Given the description of an element on the screen output the (x, y) to click on. 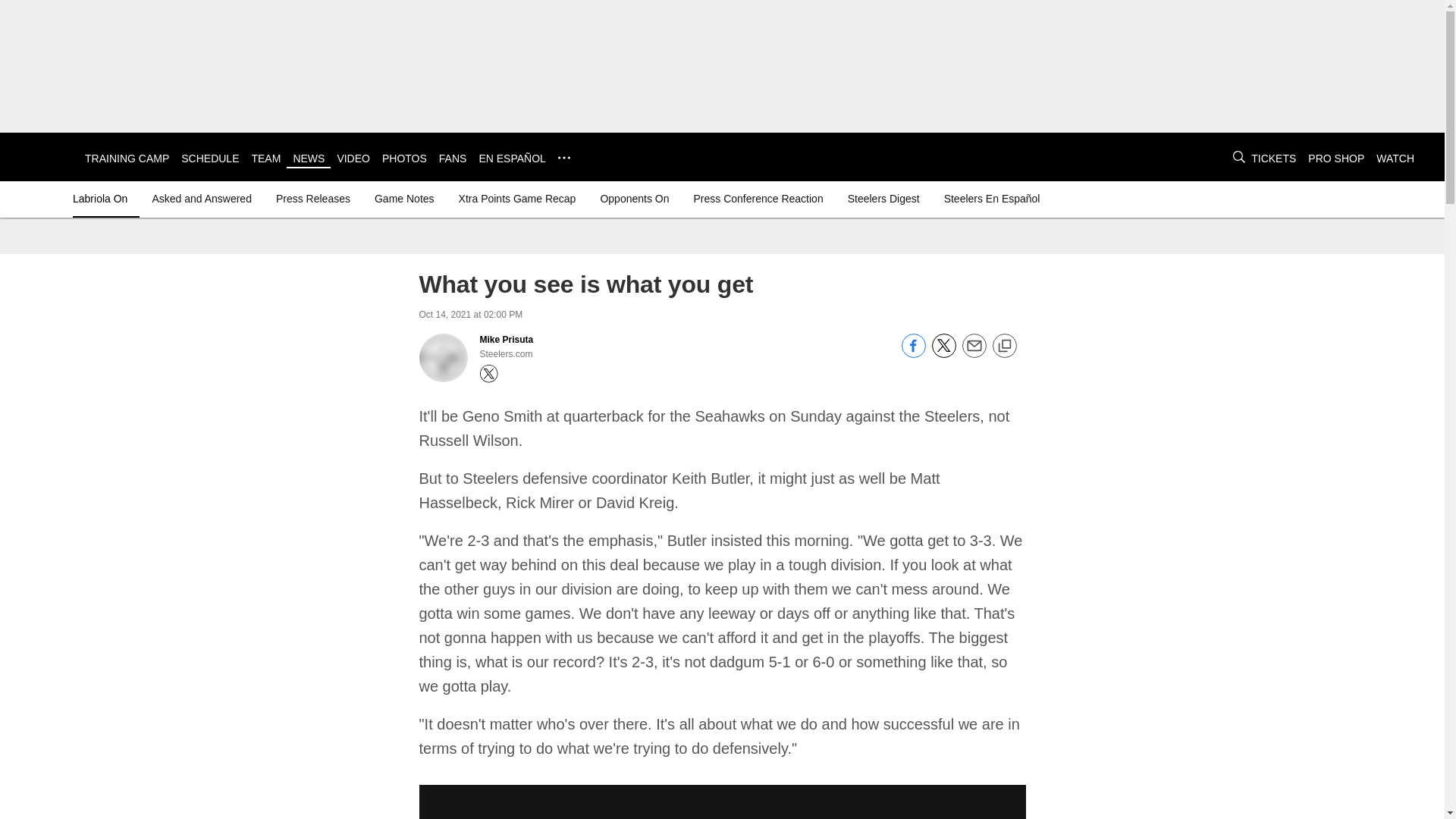
VIDEO (352, 158)
Opponents On (634, 198)
TRAINING CAMP (126, 158)
TICKETS (1272, 158)
SCHEDULE (209, 158)
Link to club's homepage (42, 156)
Xtra Points Game Recap (517, 198)
PRO SHOP (1335, 158)
PHOTOS (403, 158)
Labriola On (102, 198)
